Given the description of an element on the screen output the (x, y) to click on. 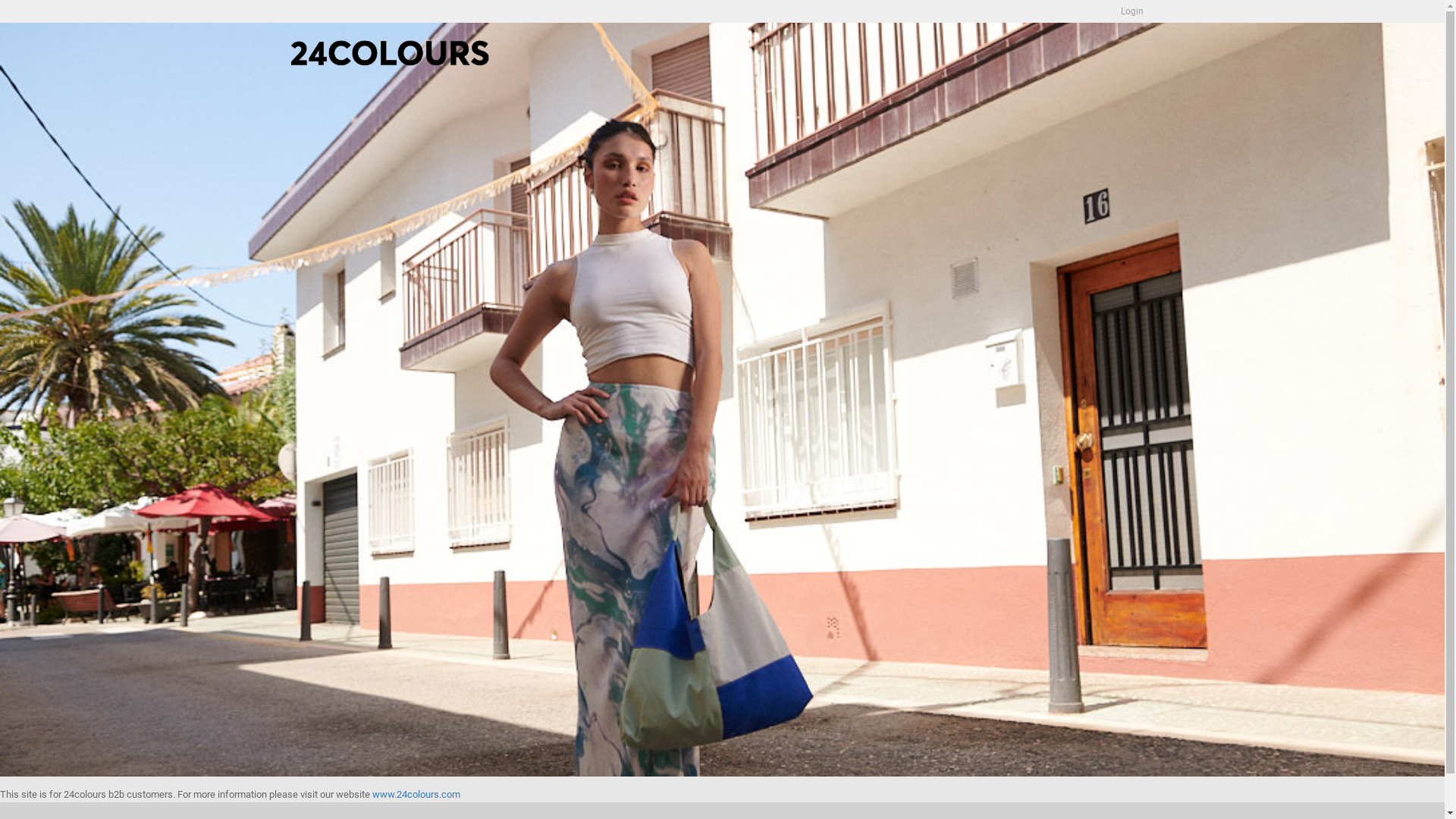
24colours b2b Element type: hover (389, 52)
Login Element type: text (1131, 11)
www.24colours.com Element type: text (416, 794)
Login Element type: text (1048, 185)
